Given the description of an element on the screen output the (x, y) to click on. 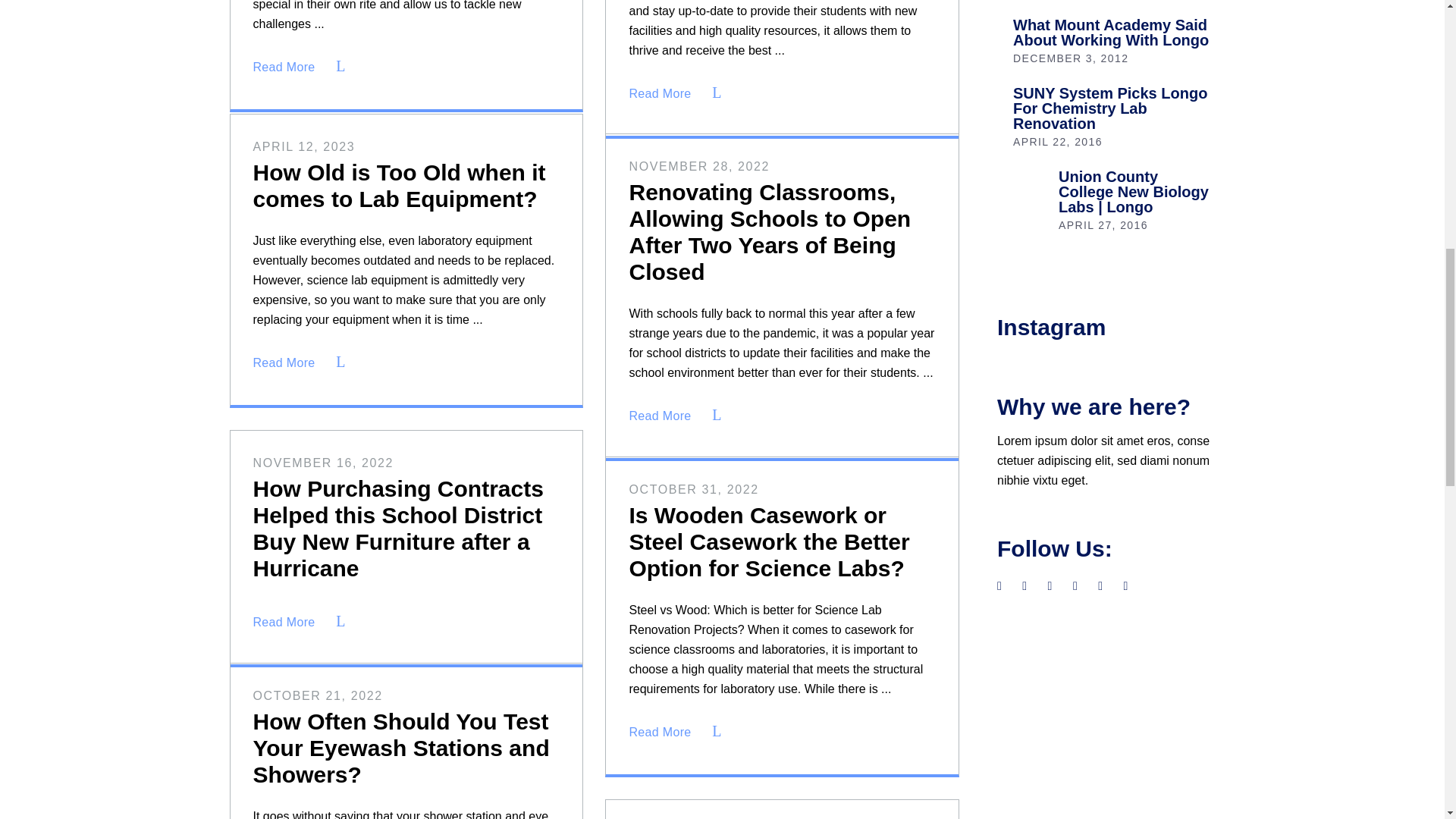
How Often Should You Test Your Eyewash Stations and Showers? (401, 748)
Read More (304, 66)
How Old is Too Old when it comes to Lab Equipment? (399, 185)
SUNY System Picks Longo for Chemistry Lab Renovation (1110, 108)
What Mount Academy Said About Working With Longo (1110, 32)
